Given the description of an element on the screen output the (x, y) to click on. 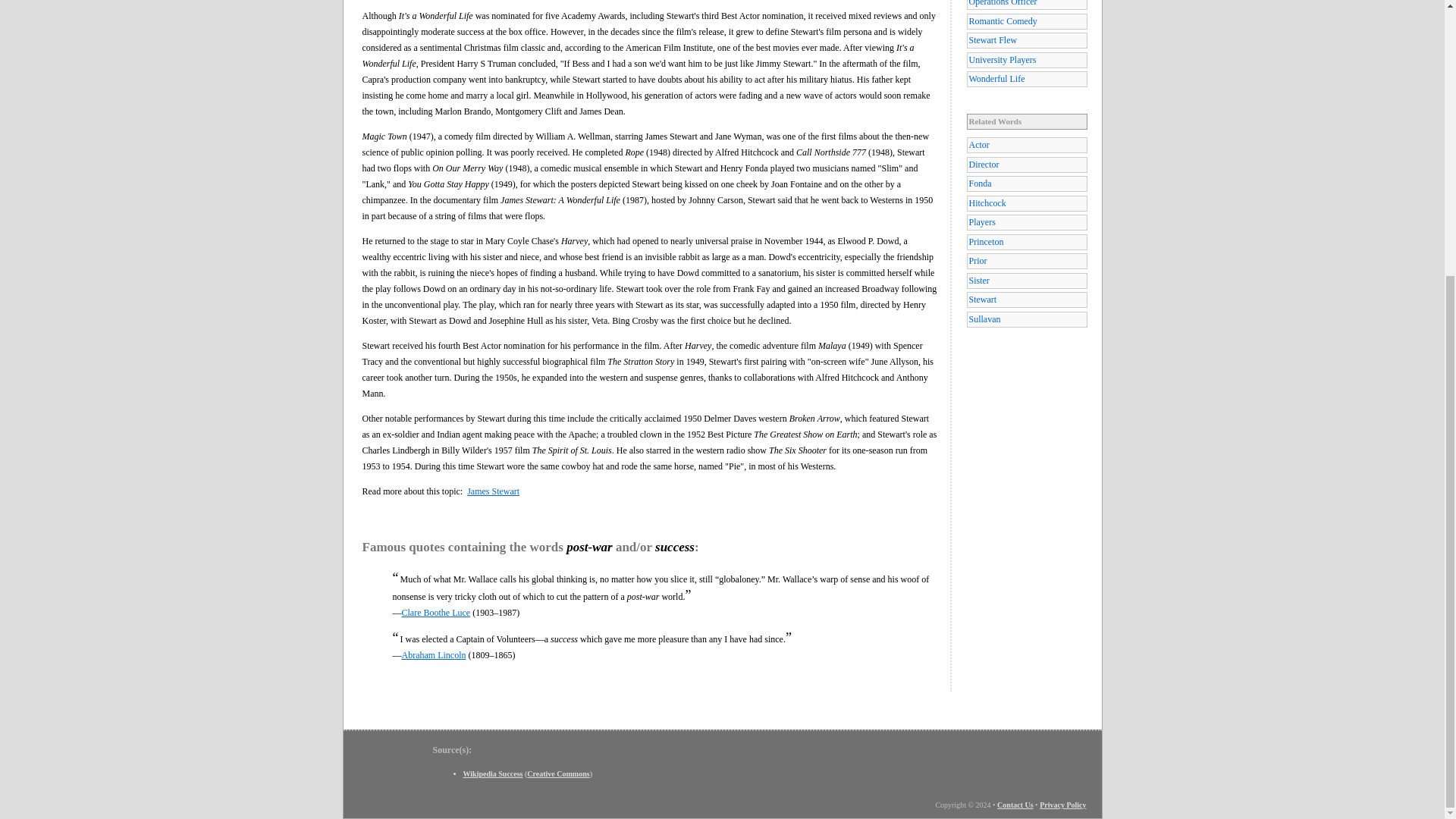
Sullavan (1026, 319)
Prior (1026, 261)
Abraham Lincoln (433, 655)
Stewart Flew (1026, 40)
Romantic Comedy (1026, 21)
James Stewart (493, 491)
Privacy Policy (1062, 804)
Hitchcock (1026, 203)
Creative Commons (558, 773)
Operations Officer (1026, 4)
Fonda (1026, 183)
Clare Boothe Luce (435, 612)
Who is Abraham Lincoln? (433, 655)
Stewart (1026, 299)
Princeton (1026, 242)
